Given the description of an element on the screen output the (x, y) to click on. 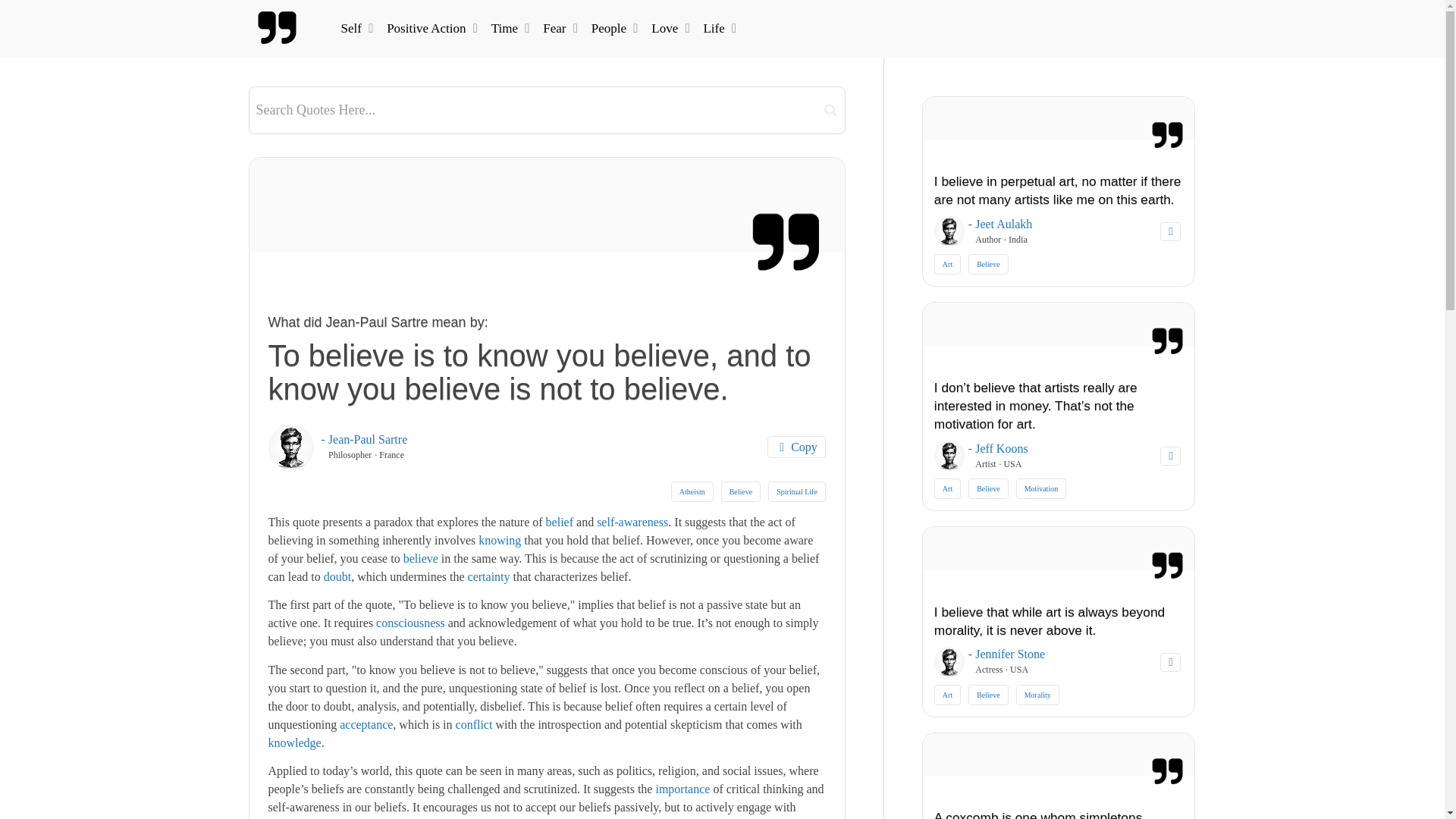
Search (830, 109)
Search (830, 109)
Project Quotes Guide - Best Perspectives on Life (276, 28)
